Given the description of an element on the screen output the (x, y) to click on. 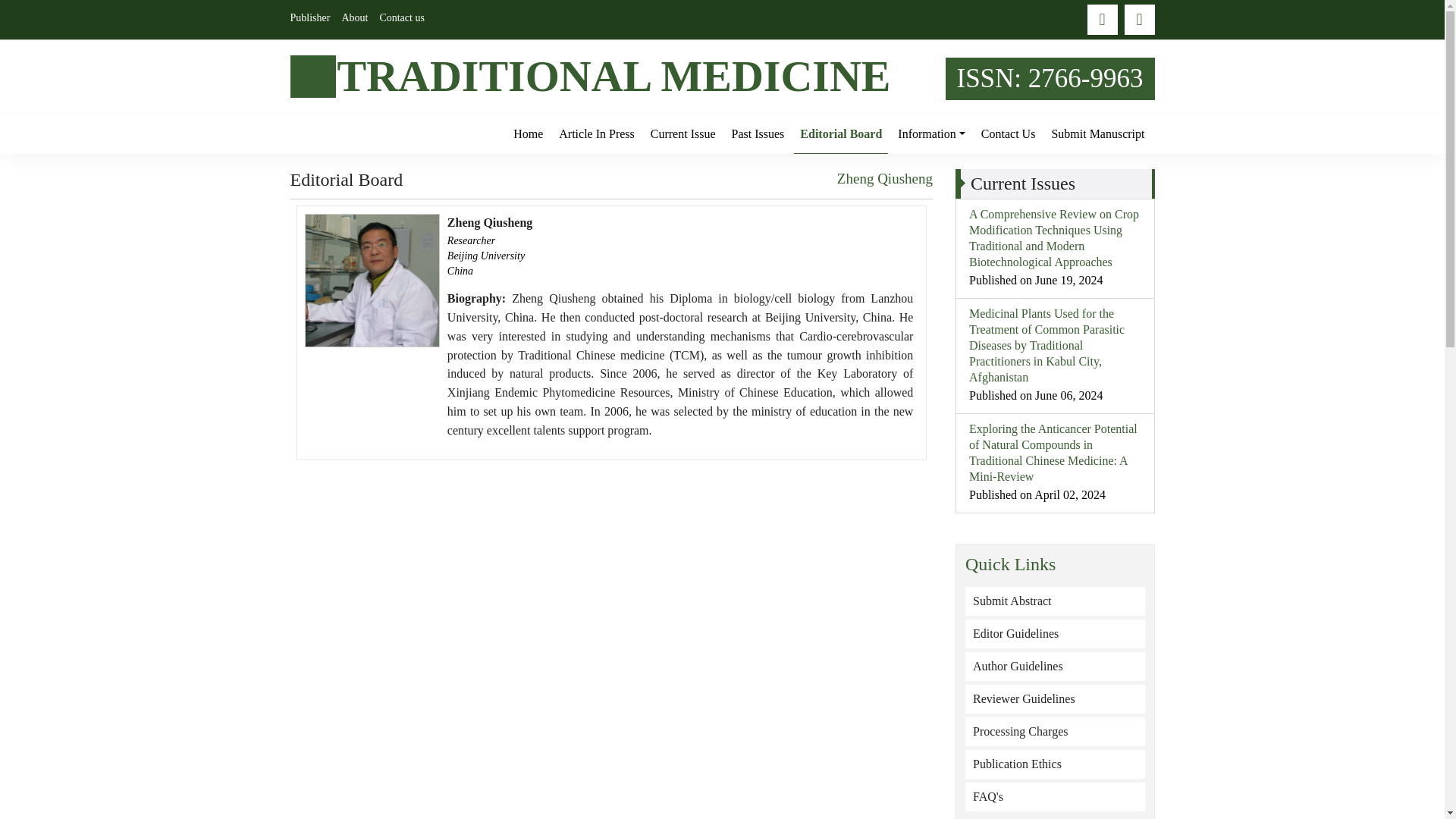
Home (527, 134)
Home (527, 134)
Information (931, 134)
Face Book (1102, 19)
Contact us (1008, 134)
Contact us (401, 17)
TRADITIONAL MEDICINE (611, 76)
Submit Abstract (1054, 601)
Contact us (401, 17)
